Given the description of an element on the screen output the (x, y) to click on. 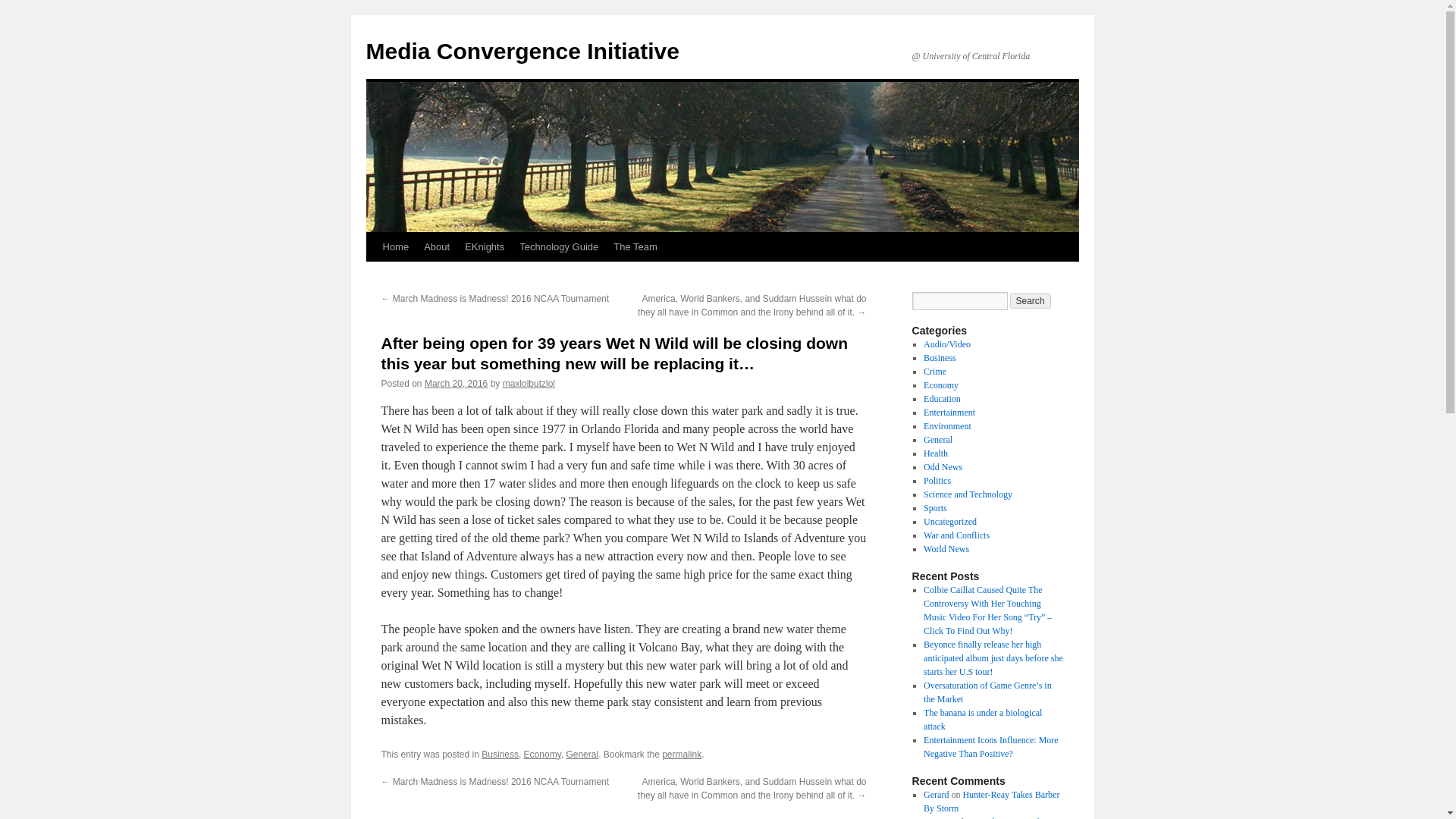
Business (499, 754)
General (937, 439)
March 20, 2016 (456, 383)
General (582, 754)
The Team (635, 246)
Home (395, 246)
Search (1030, 300)
Media Convergence Initiative (521, 50)
permalink (681, 754)
About (436, 246)
